Given the description of an element on the screen output the (x, y) to click on. 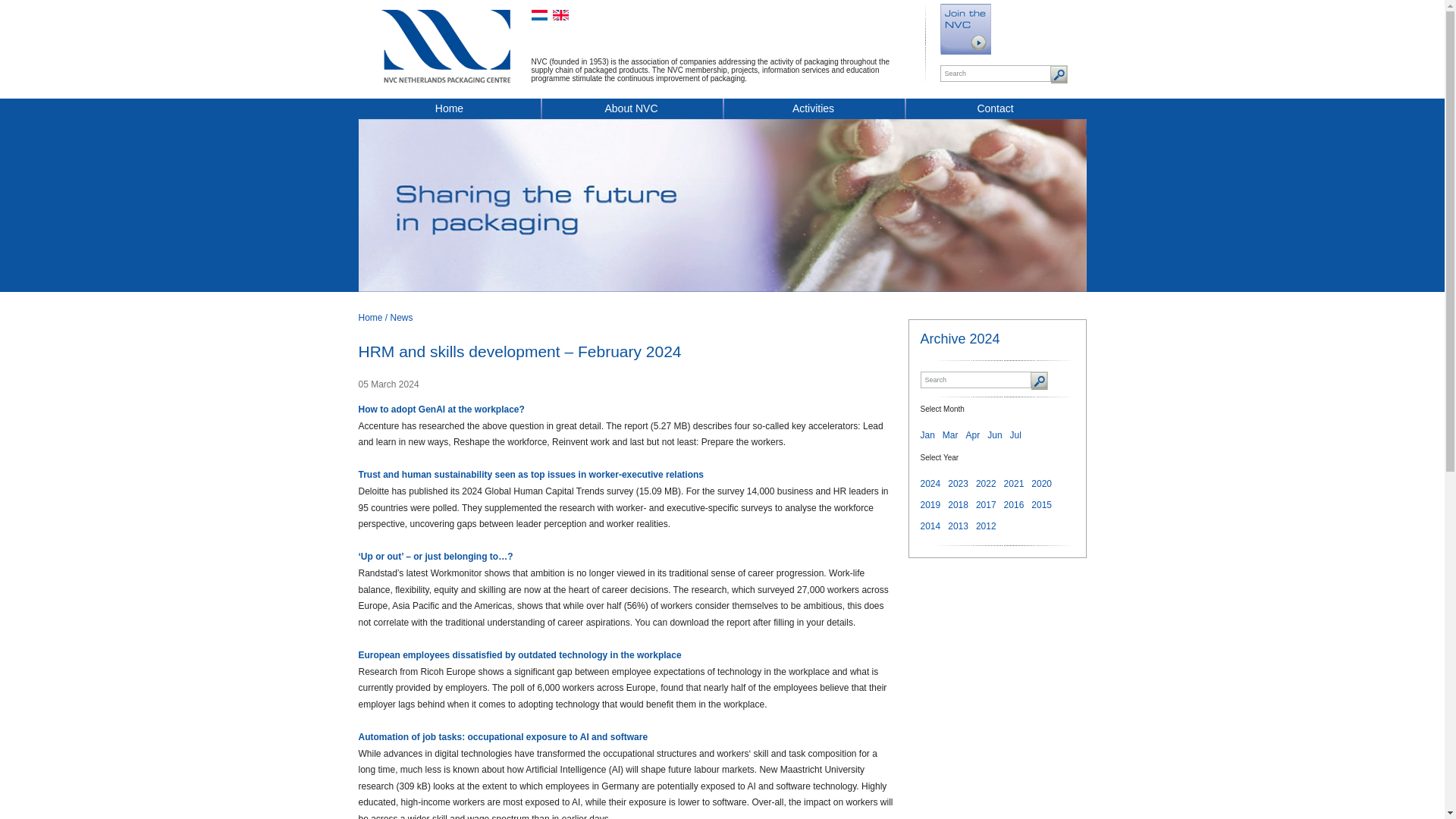
2020 (1040, 483)
Contact (995, 110)
Nederlands (539, 14)
News (401, 317)
2021 (1014, 483)
Home (369, 317)
2019 (930, 504)
Jan (927, 434)
Mar (950, 434)
Jul (1016, 434)
Jun (994, 434)
Home (449, 110)
2022 (985, 483)
Engels (559, 14)
Apr (972, 434)
